Given the description of an element on the screen output the (x, y) to click on. 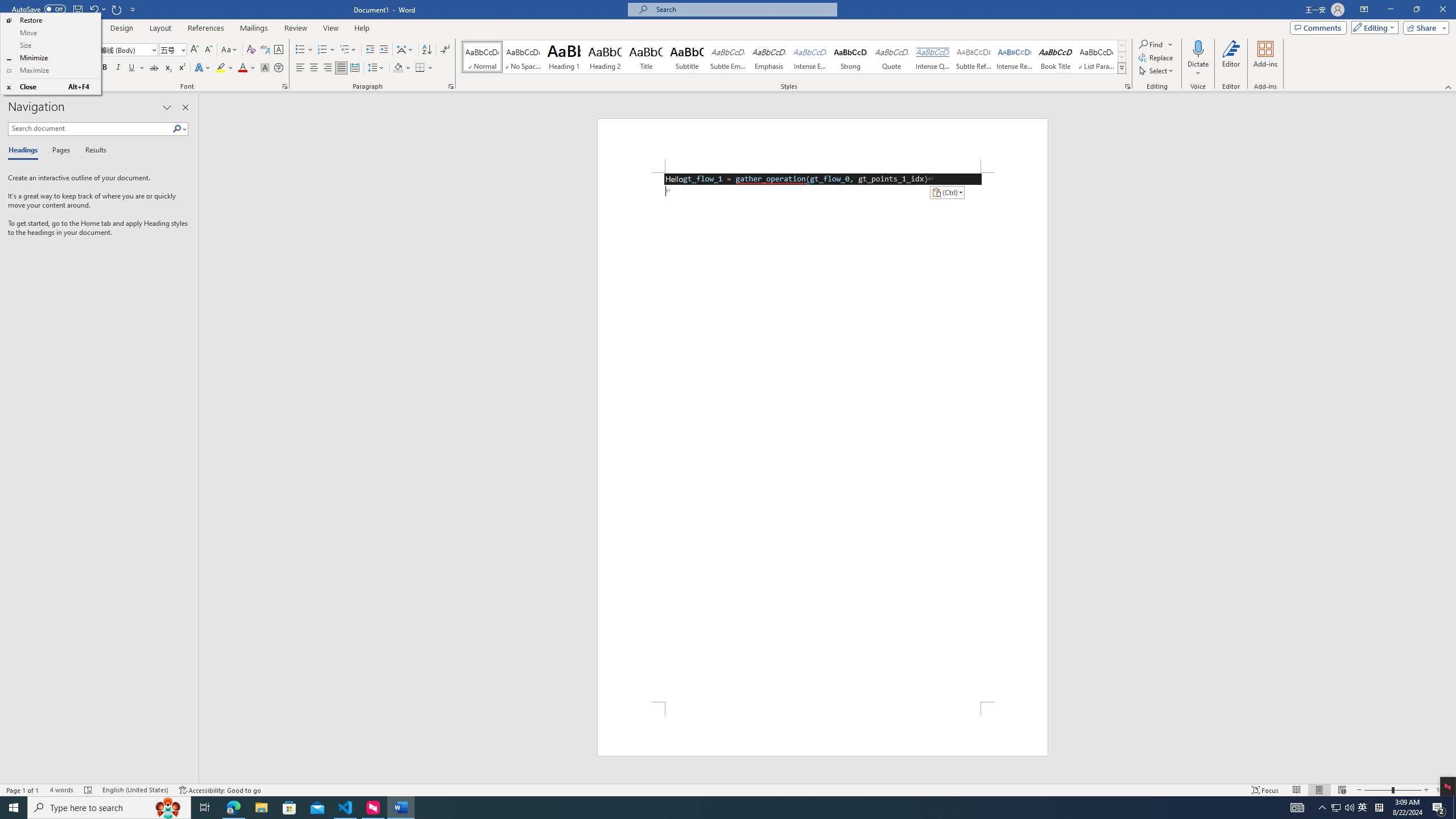
Font Color Red (241, 67)
Restore (50, 20)
Heading 2 (605, 56)
